Given the description of an element on the screen output the (x, y) to click on. 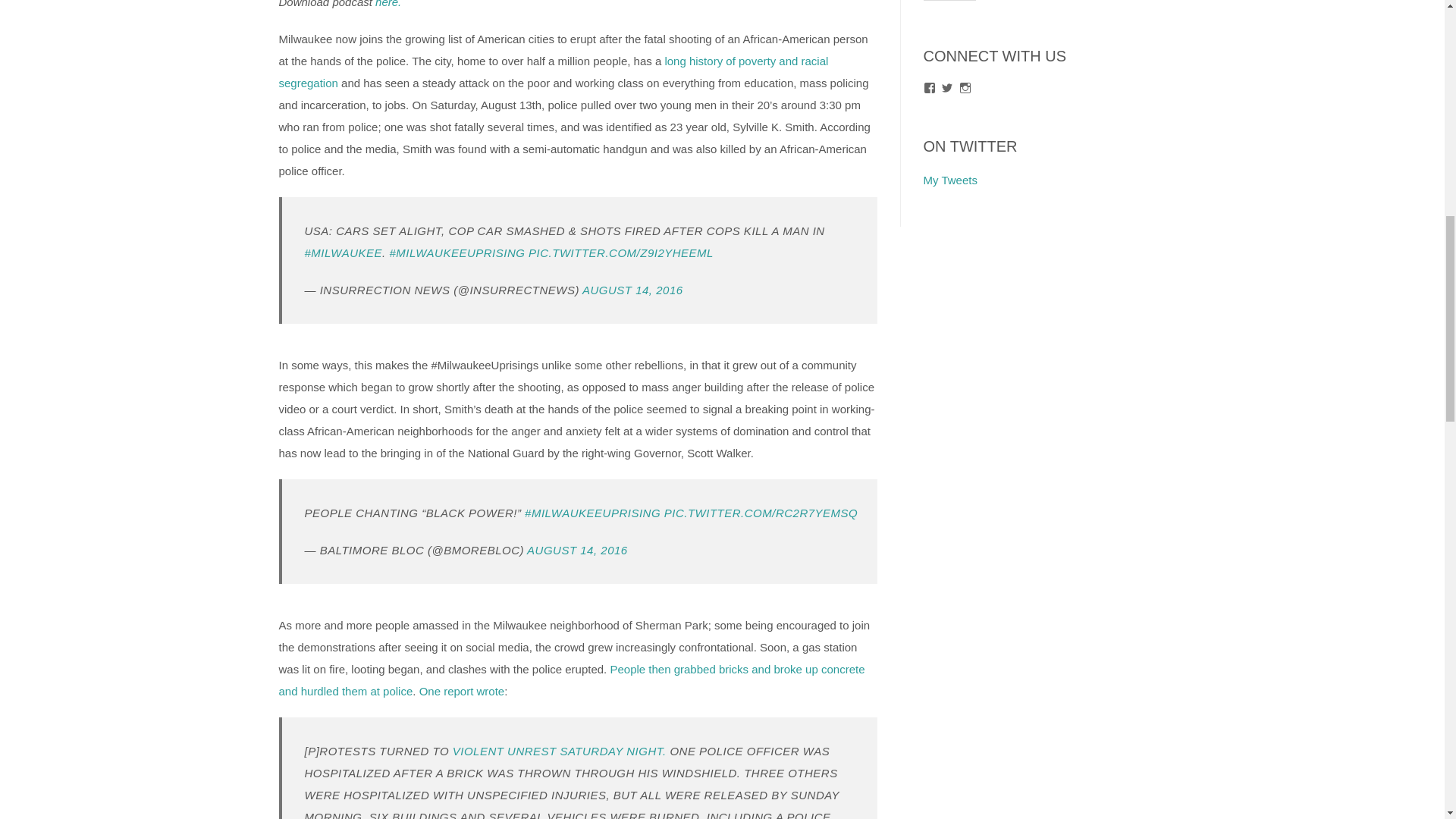
AUGUST 14, 2016 (632, 289)
VIOLENT UNREST SATURDAY NIGHT. (557, 750)
One report wrote (462, 690)
here. (388, 4)
AUGUST 14, 2016 (577, 549)
long history of poverty and racial segregation (553, 71)
